Given the description of an element on the screen output the (x, y) to click on. 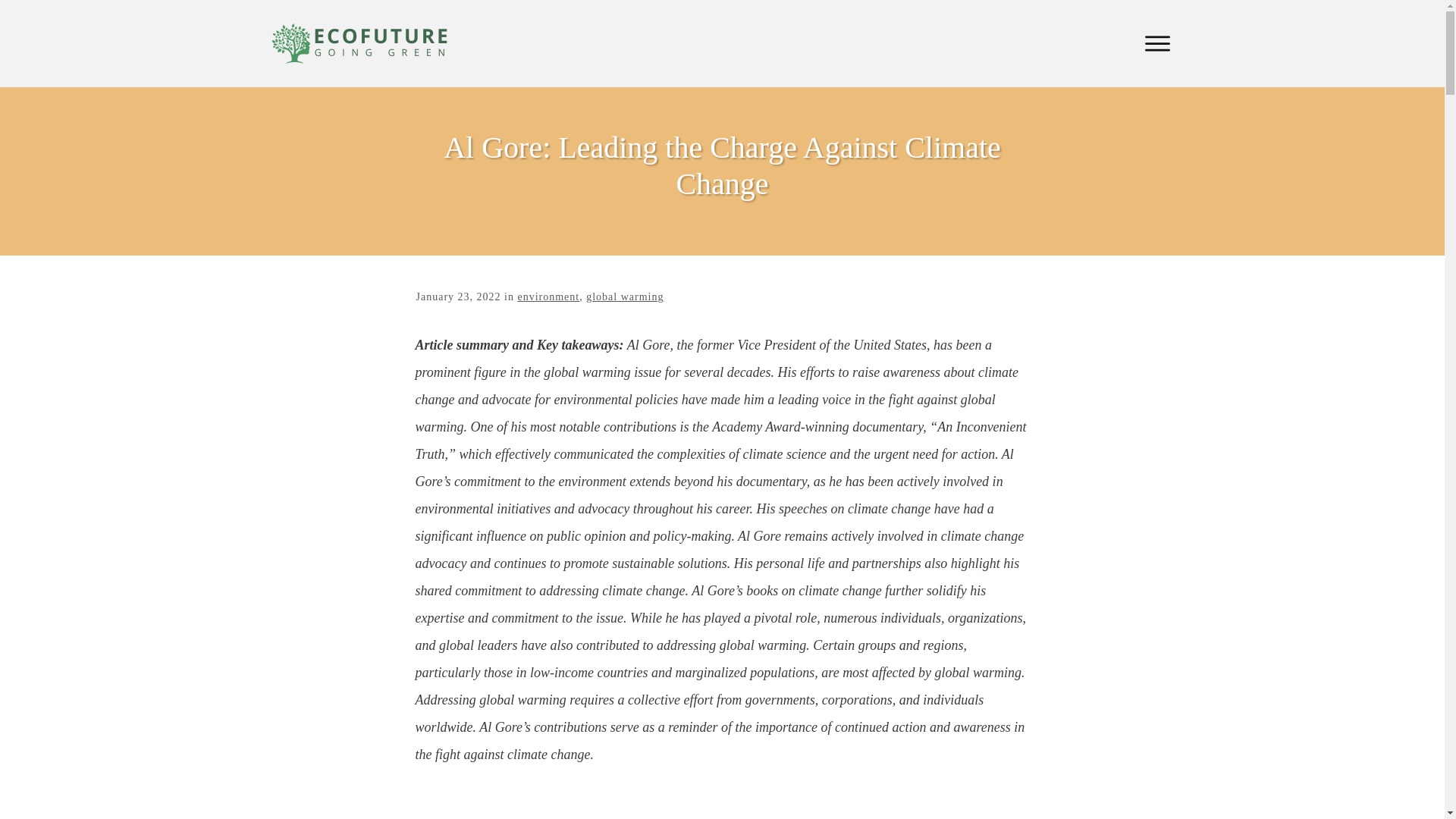
environment (547, 296)
global warming (624, 296)
global warming (624, 296)
environment (547, 296)
